Given the description of an element on the screen output the (x, y) to click on. 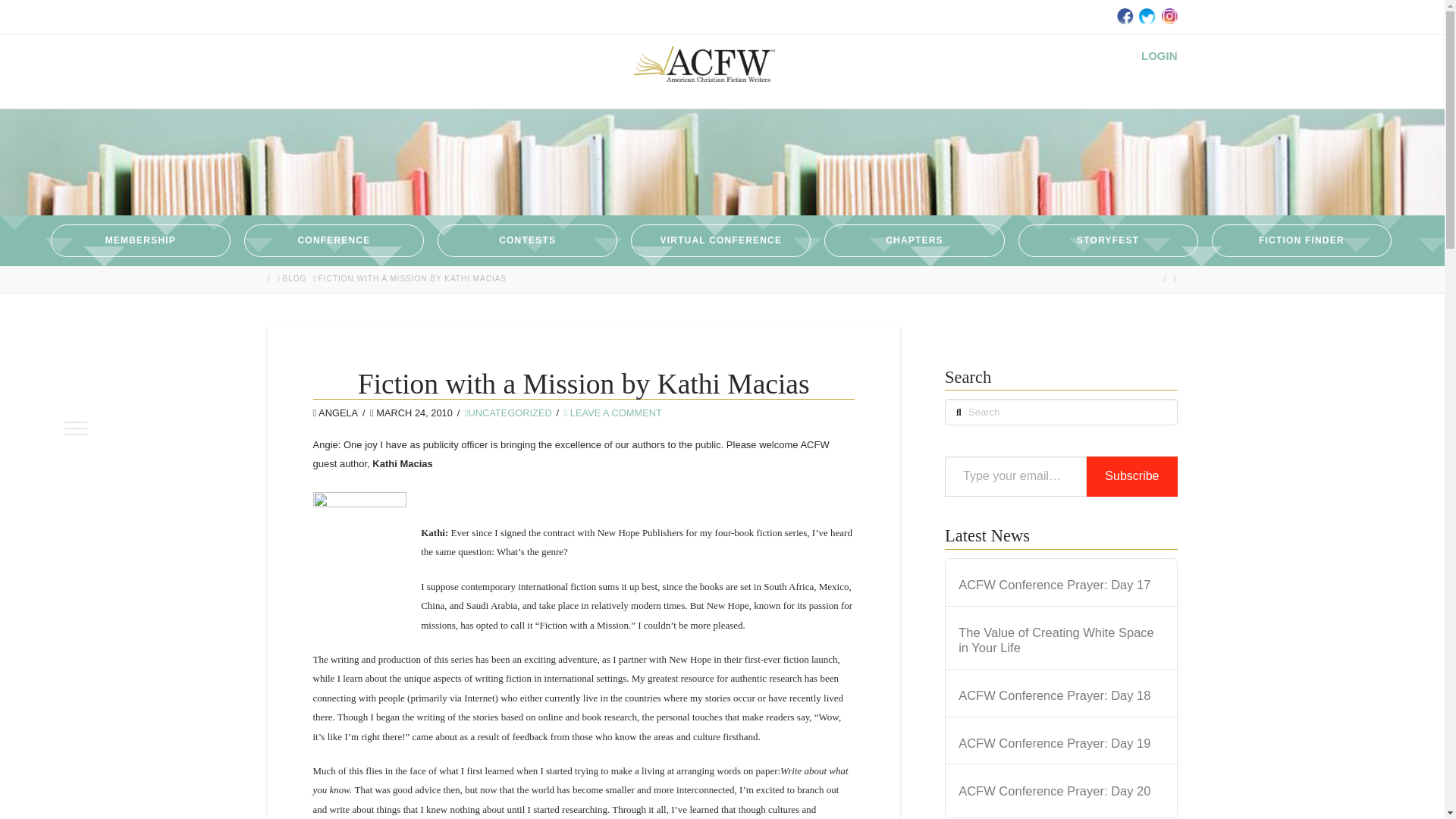
You Are Here (412, 278)
Facebook (1124, 15)
Instagram (1168, 15)
Search (33, 15)
LOGIN (1159, 55)
